Given the description of an element on the screen output the (x, y) to click on. 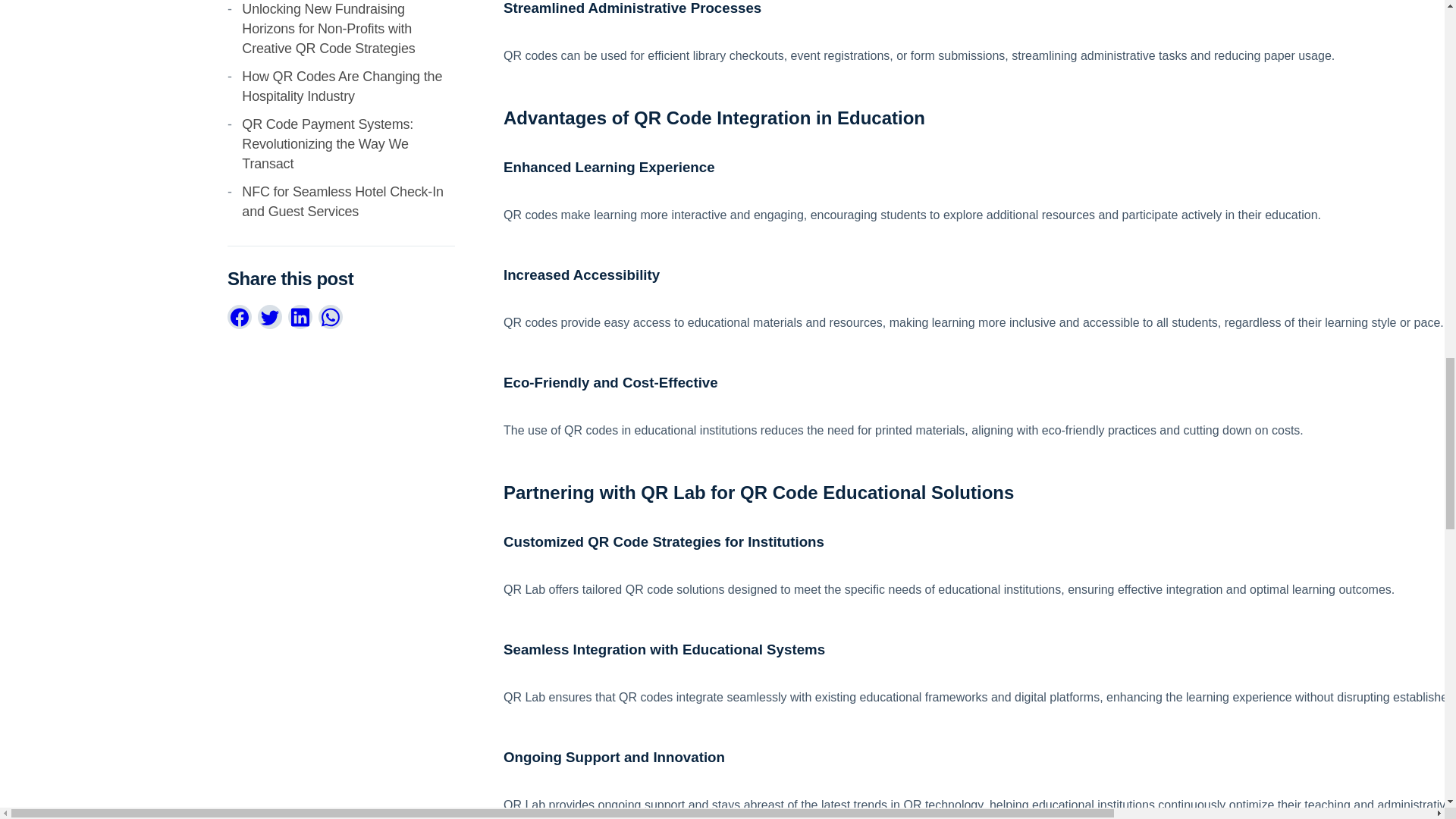
How QR Codes Are Changing the Hospitality Industry (341, 86)
NFC for Seamless Hotel Check-In and Guest Services (342, 201)
QR Code Payment Systems: Revolutionizing the Way We Transact (327, 144)
